Given the description of an element on the screen output the (x, y) to click on. 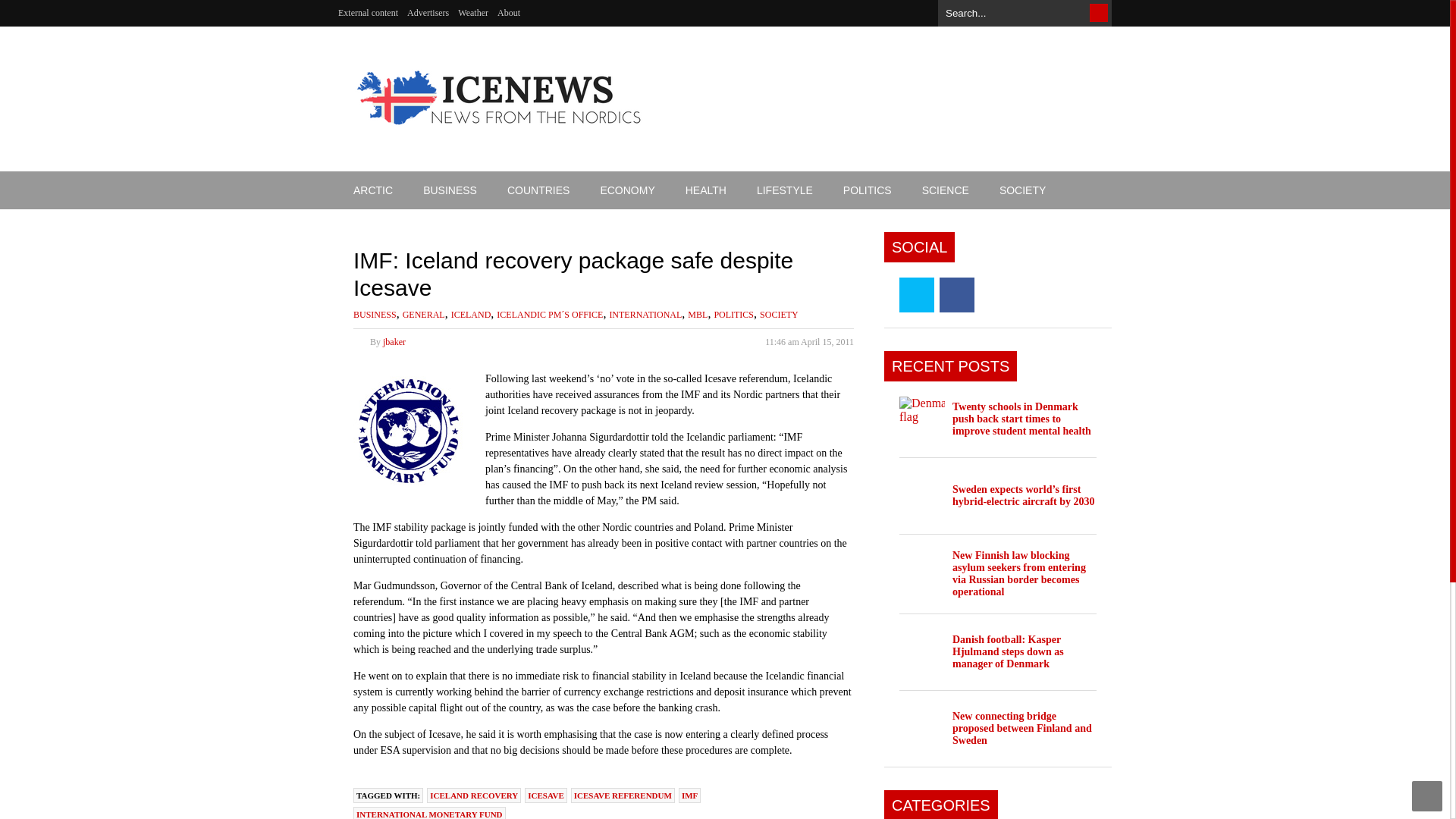
LIFESTYLE (784, 190)
Click to read (1021, 418)
ECONOMY (627, 190)
Advertisers (427, 13)
View all posts in International (644, 314)
Scroll (1427, 796)
Posts by jbaker (394, 341)
View all posts in Politics (733, 314)
Zoom in post body text (848, 317)
Weather (472, 13)
Search... (1024, 9)
External content (367, 13)
COUNTRIES (538, 190)
POLITICS (867, 190)
Click to read (921, 419)
